Given the description of an element on the screen output the (x, y) to click on. 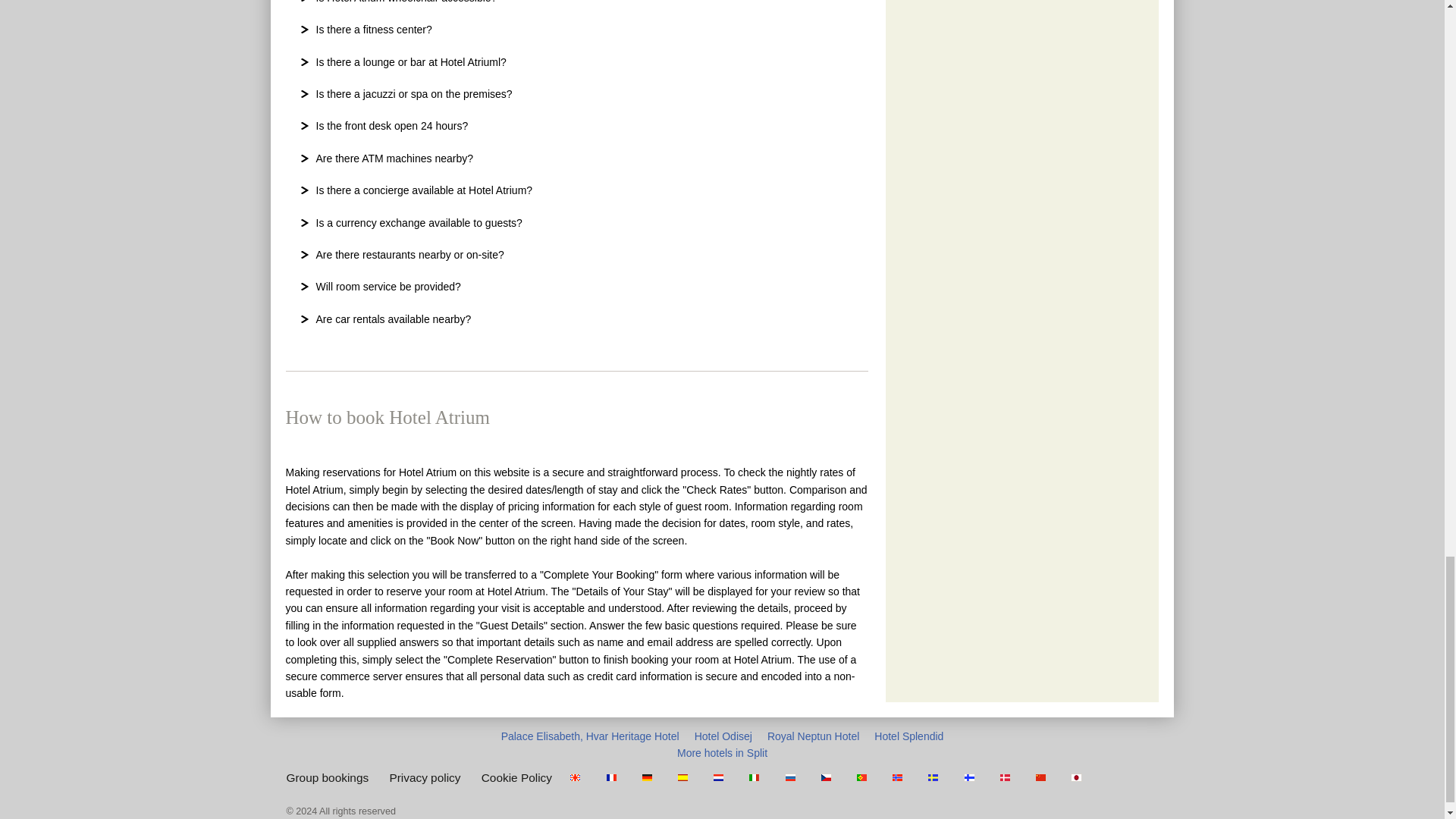
Cookie Policy (516, 777)
Palace Elisabeth, Hvar Heritage Hotel (589, 736)
More hotels in Split (722, 752)
Group bookings (327, 777)
Privacy policy (424, 777)
Hotel Splendid (909, 736)
Royal Neptun Hotel (813, 736)
Hotel Odisej (723, 736)
